Given the description of an element on the screen output the (x, y) to click on. 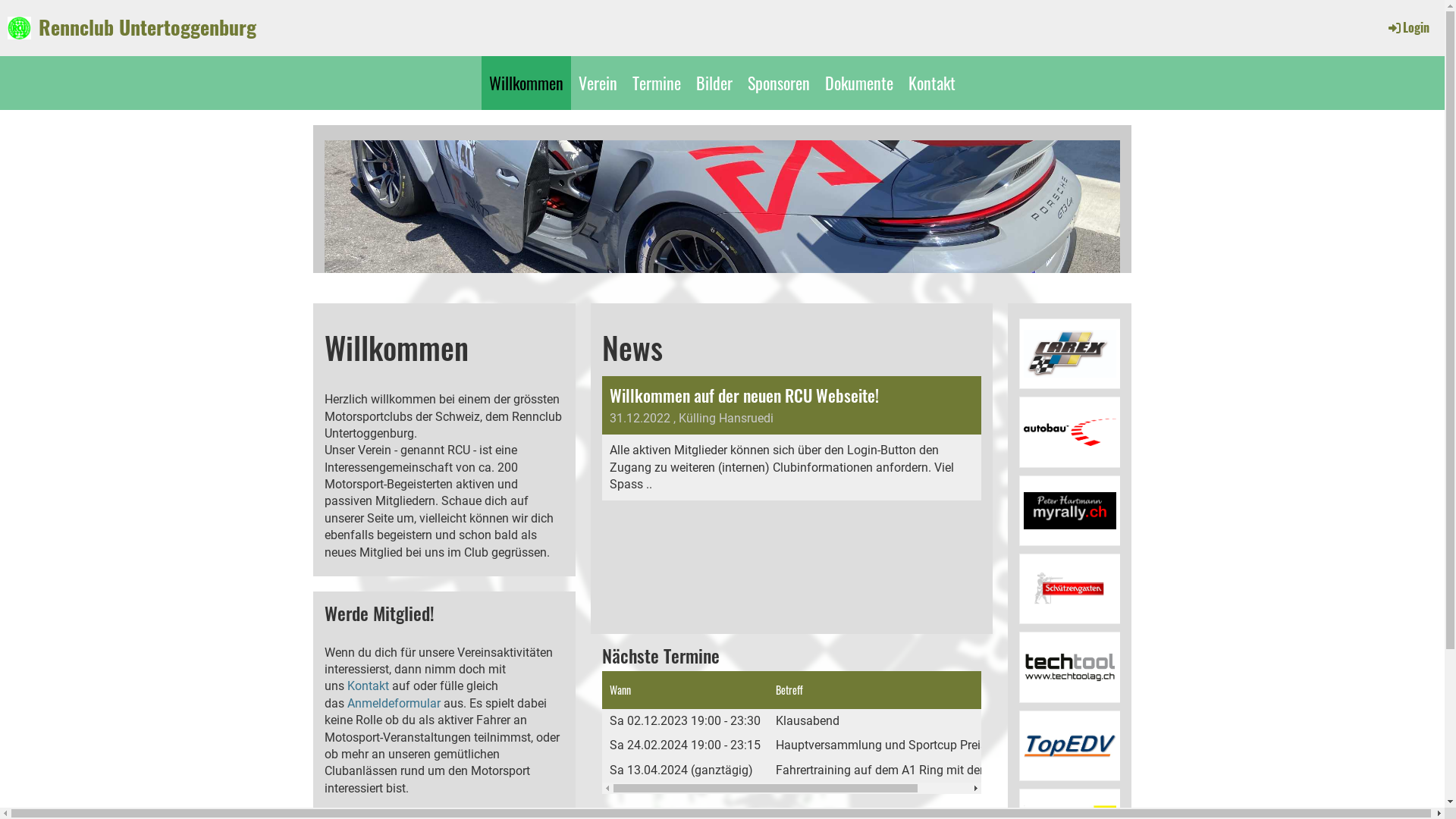
Dokumente Element type: text (858, 82)
Login Element type: text (1407, 27)
Anmeldeformular Element type: text (393, 703)
Verein Element type: text (597, 82)
Sponsoren Element type: text (778, 82)
Willkommen Element type: text (526, 82)
Kontakt Element type: text (931, 82)
Termine Element type: text (656, 82)
Kontakt Element type: text (368, 685)
Bilder Element type: text (714, 82)
Sa 02.12.2023 19:00 - 23:30 Klausabend Element type: text (824, 721)
Rennclub Untertoggenburg Element type: text (146, 26)
